Given the description of an element on the screen output the (x, y) to click on. 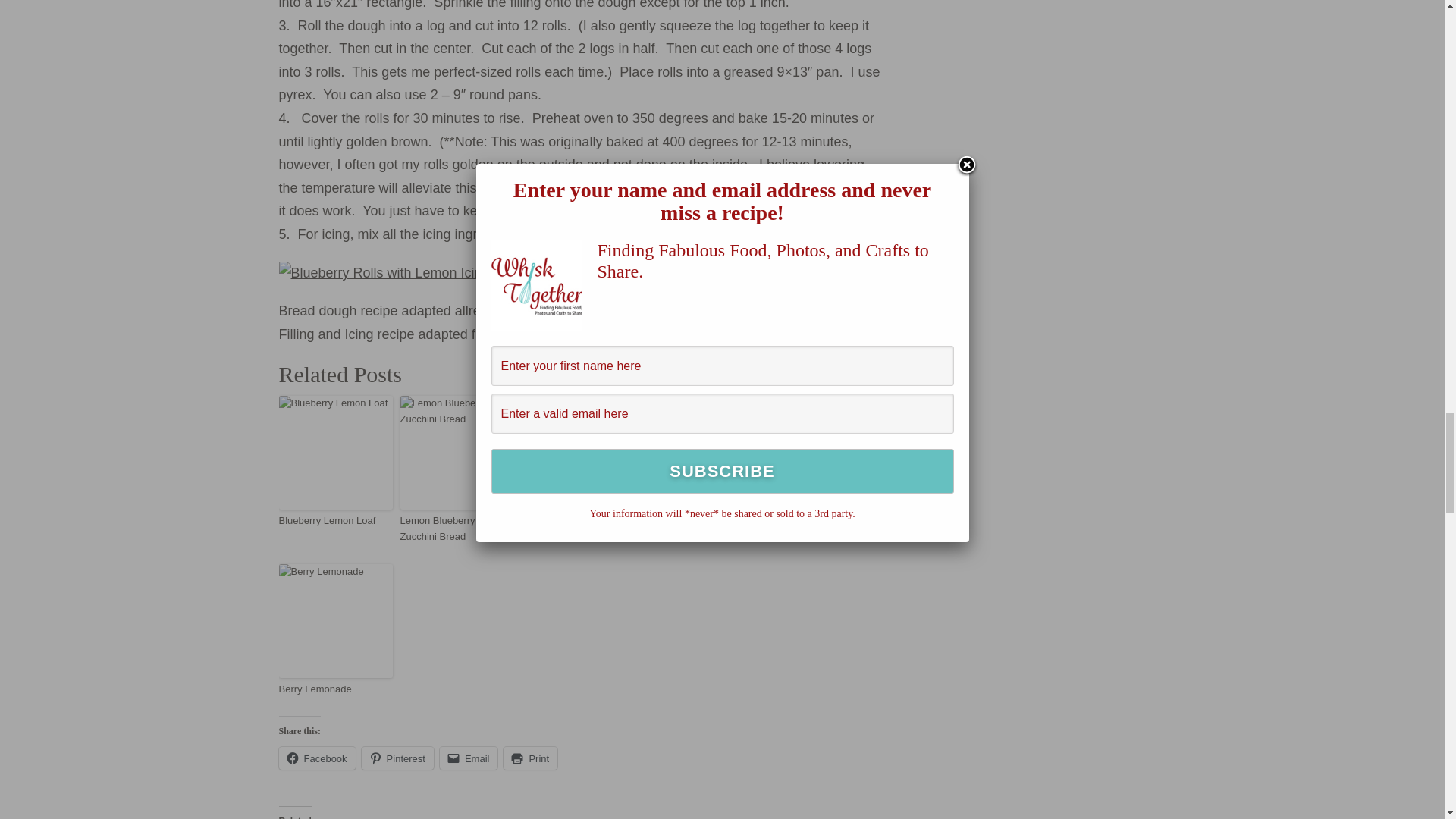
Click to share on Pinterest (397, 757)
Click to share on Facebook (317, 757)
Click to print (530, 757)
Click to email a link to a friend (468, 757)
